Given the description of an element on the screen output the (x, y) to click on. 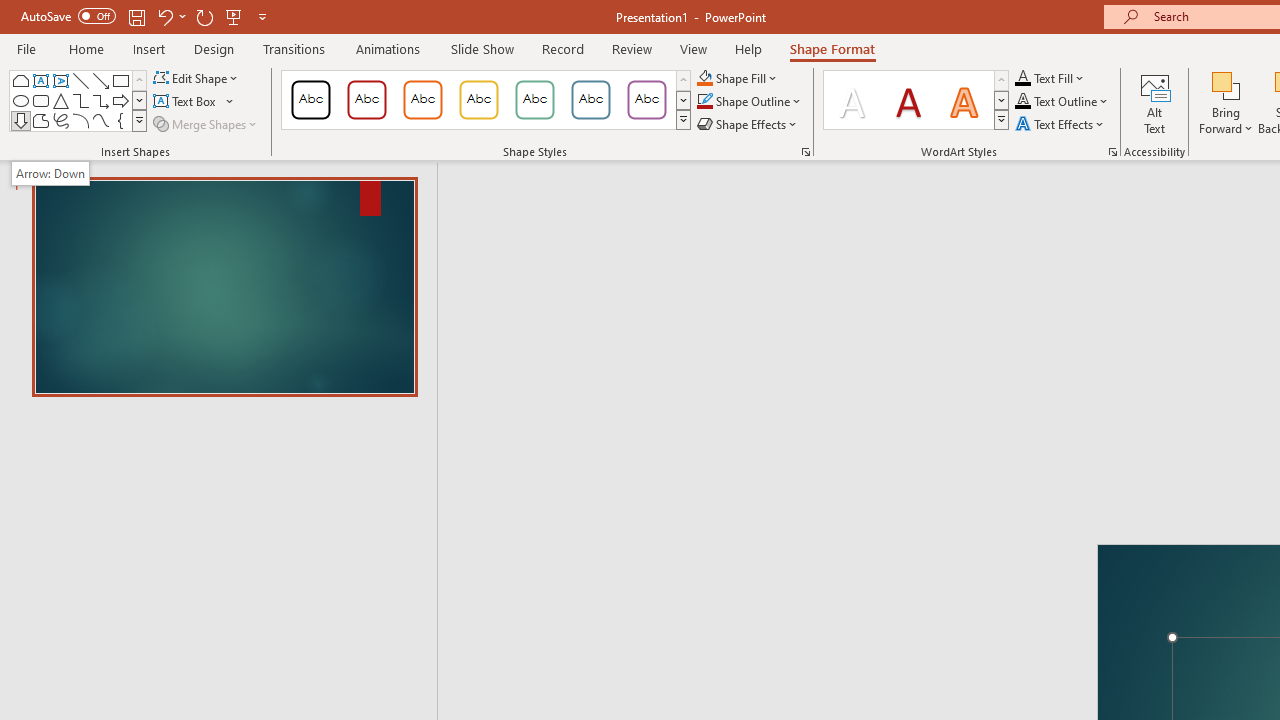
Left Brace (120, 120)
Text Fill RGB(0, 0, 0) (1023, 78)
Text Outline (1062, 101)
Connector: Elbow (80, 100)
Rectangle: Rounded Corners (40, 100)
Colored Outline - Purple, Accent 6 (646, 100)
Colored Outline - Green, Accent 4 (534, 100)
Isosceles Triangle (60, 100)
